Given the description of an element on the screen output the (x, y) to click on. 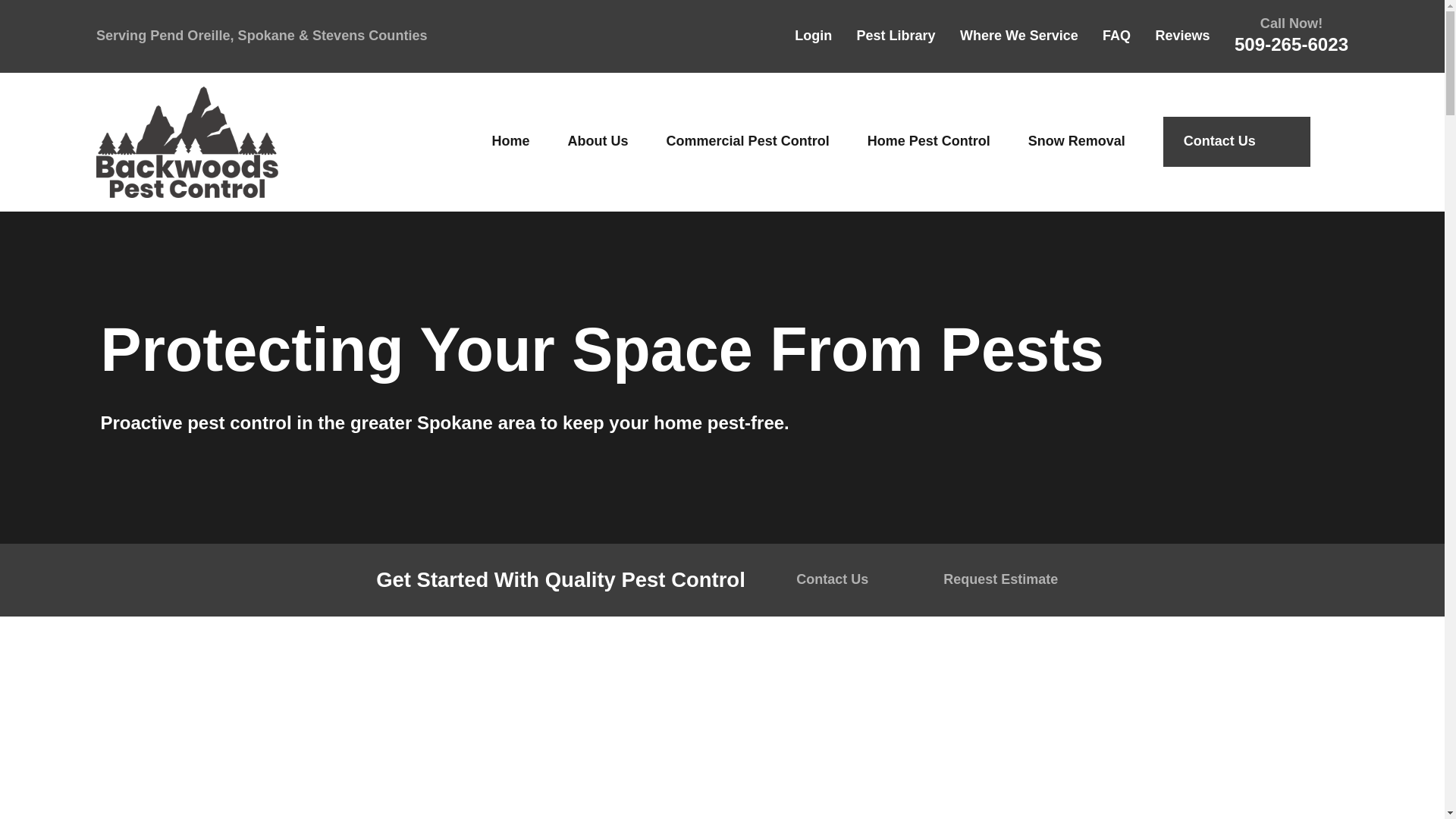
Snow Removal (1076, 140)
Pest Library (896, 35)
509-265-6023 (1291, 44)
Commercial Pest Control (747, 140)
Reviews (1182, 35)
Where We Service (1018, 35)
FAQ (1116, 35)
Login (812, 35)
Home (187, 142)
Home Pest Control (928, 140)
